Given the description of an element on the screen output the (x, y) to click on. 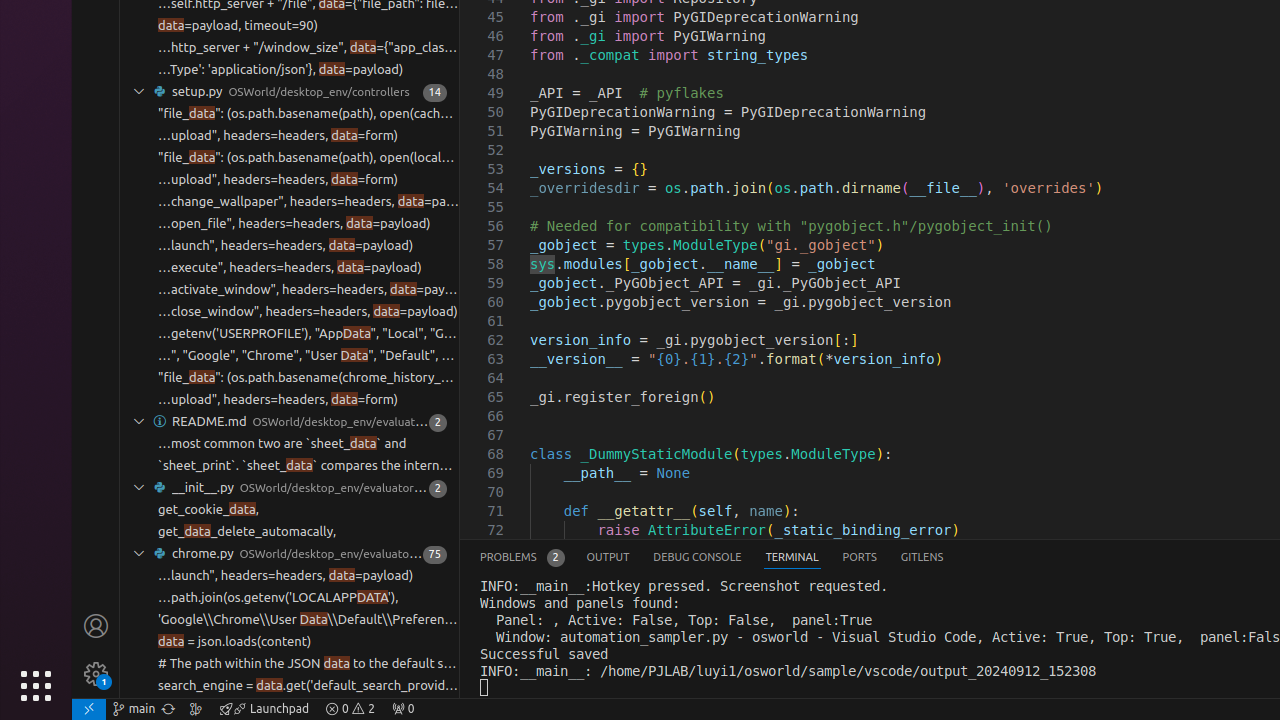
2 matches in file README.md of folder OSWorld/desktop_env/evaluators, Search result Element type: tree-item (289, 421)
' requests.post("http://" + host + ":5000/setup" + "/launch", headers=headers, data=payload)' at column 94 found data Element type: tree-item (289, 575)
…", "Google", "Chrome", "User Data", "Default", "History"))""")[ Element type: link (308, 355)
OSWorld (Git) - Synchronize Changes Element type: push-button (168, 709)
Terminal (Ctrl+`) Element type: page-tab (792, 557)
